Given the description of an element on the screen output the (x, y) to click on. 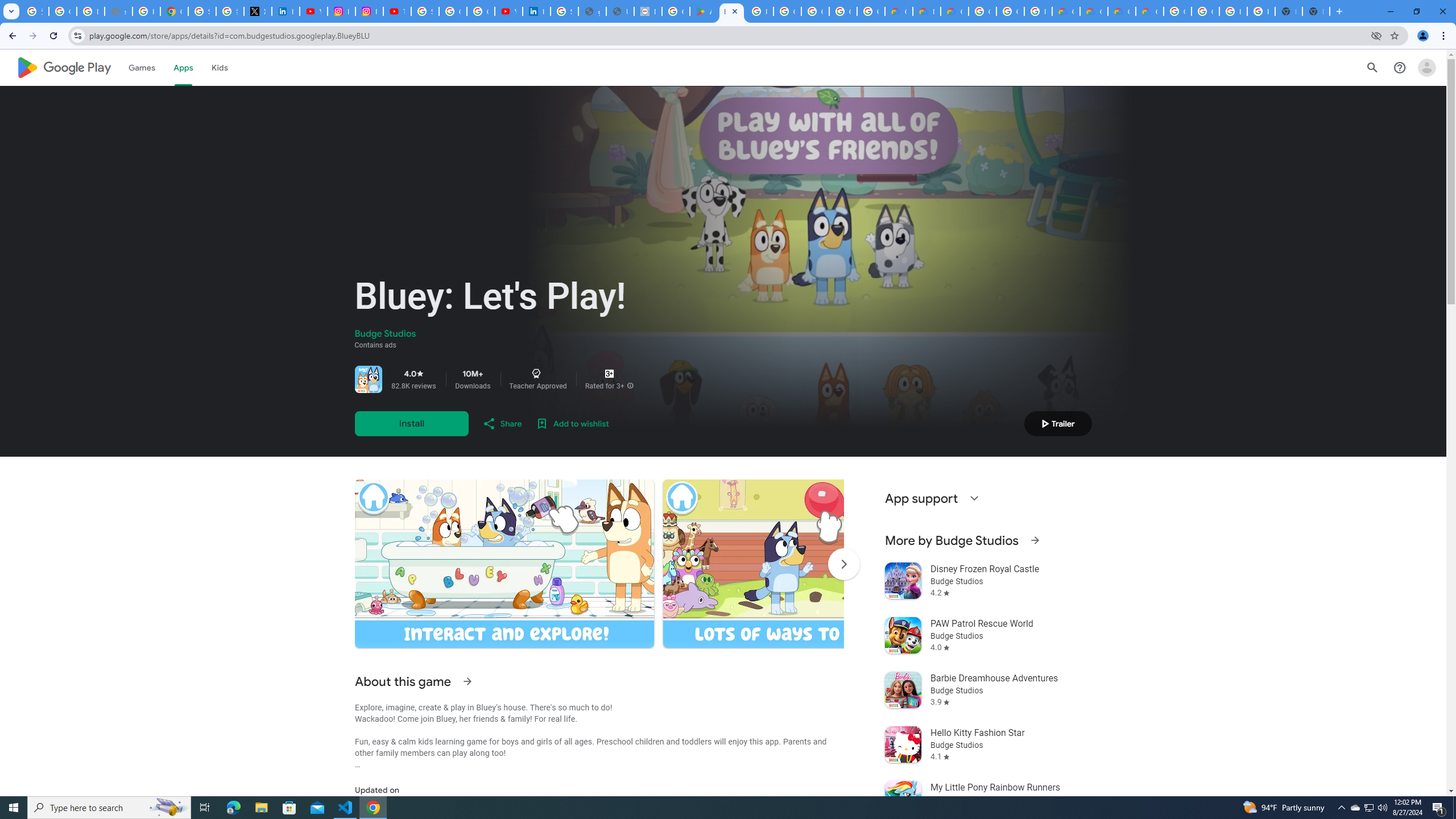
See more information on About this game (466, 681)
Privacy Help Center - Policies Help (146, 11)
Add to wishlist (571, 422)
Sign in - Google Accounts (202, 11)
Google Cloud Platform (982, 11)
Google Cloud Platform (1010, 11)
Kids (219, 67)
See more information on More by Budge Studios (1034, 539)
Google Cloud Platform (1205, 11)
